Given the description of an element on the screen output the (x, y) to click on. 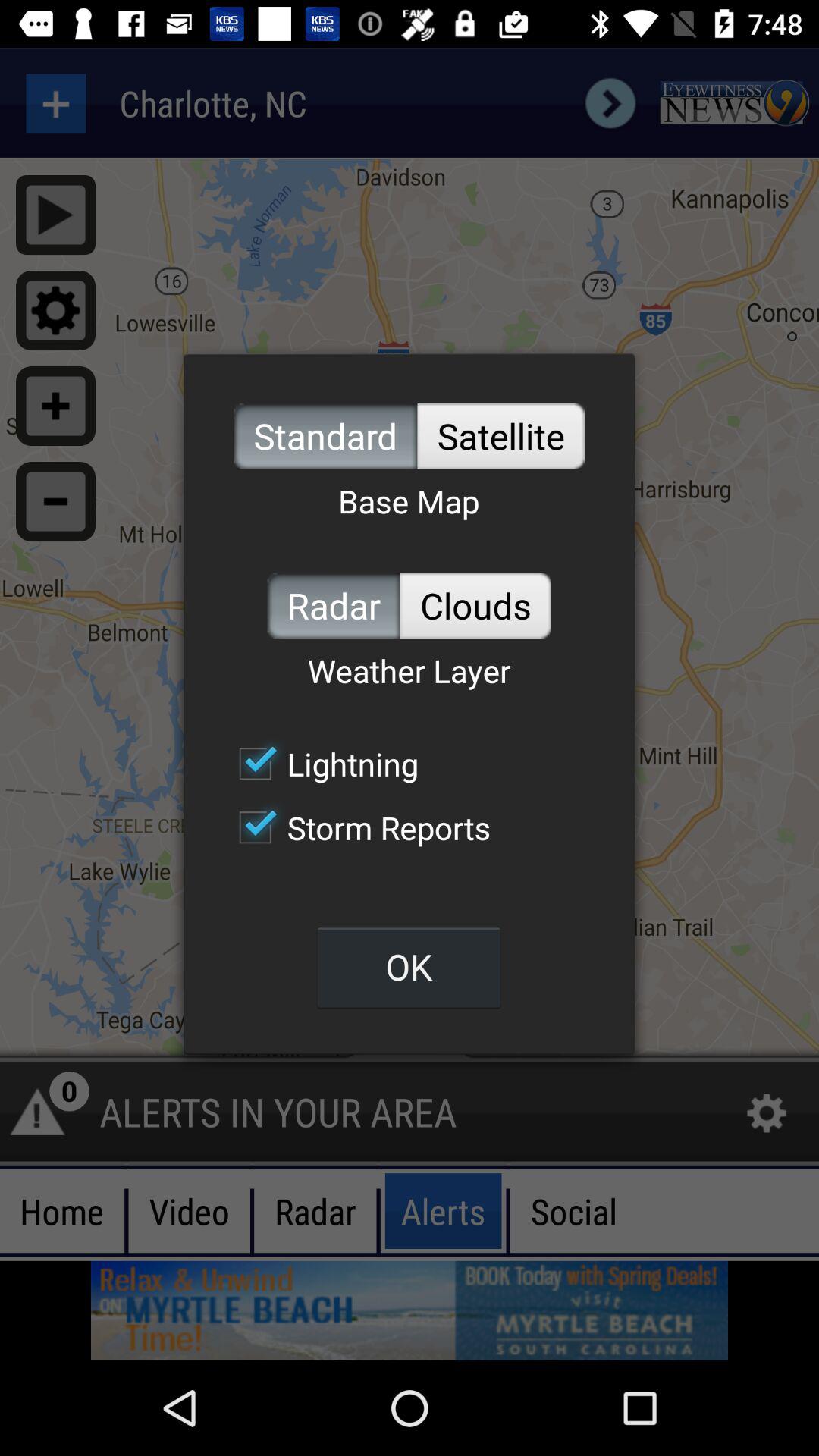
launch icon below base map icon (475, 605)
